Given the description of an element on the screen output the (x, y) to click on. 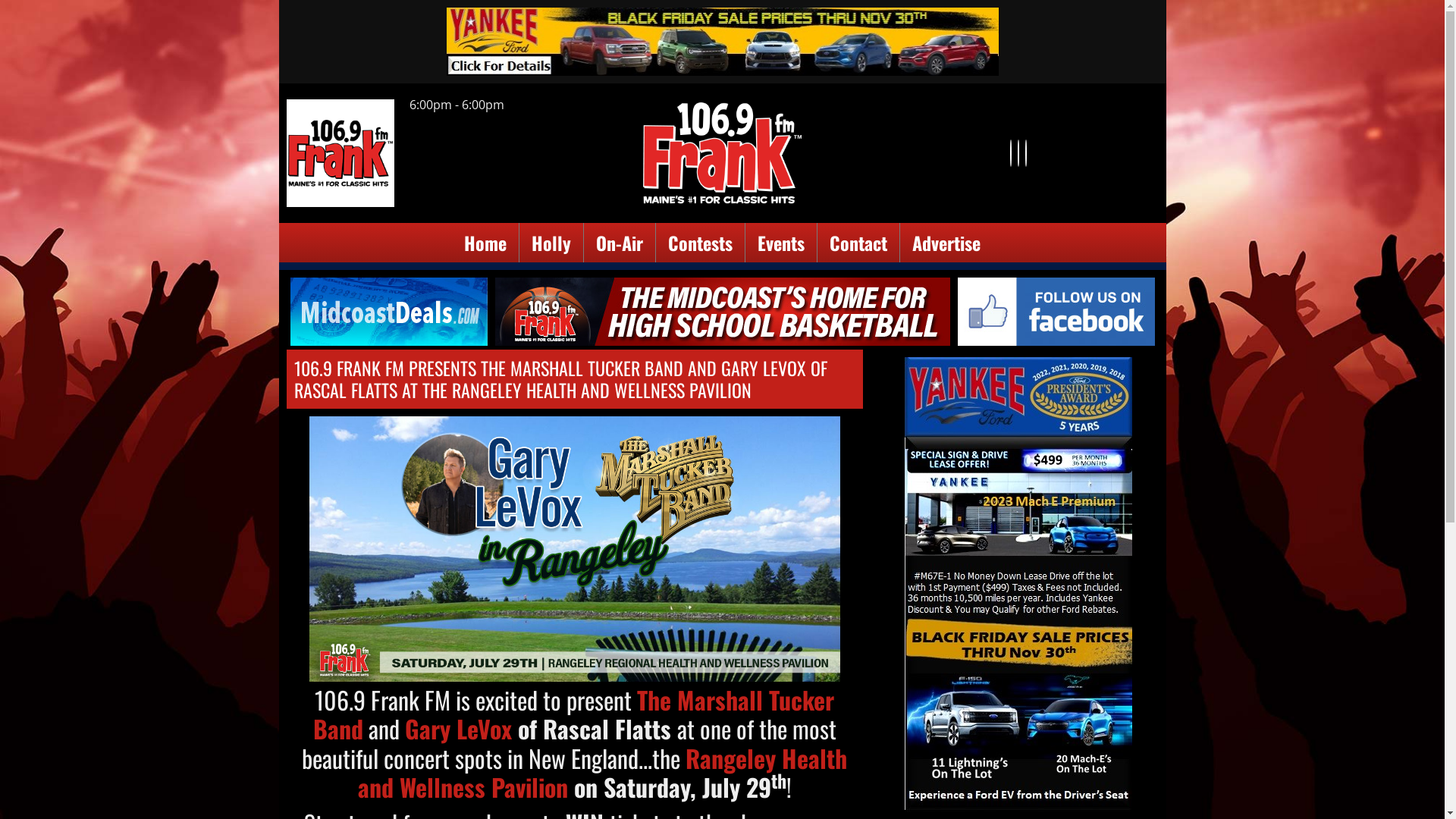
Gary LeVox Element type: text (457, 728)
Contests Element type: text (699, 242)
The Marshall Tucker Band Element type: text (573, 713)
Advertise Element type: text (946, 242)
Contact Element type: text (858, 242)
Home Element type: text (484, 242)
Holly Element type: text (551, 242)
Events Element type: text (780, 242)
Rangeley Health and Wellness Pavilion Element type: text (602, 772)
On-Air Element type: text (619, 242)
